Given the description of an element on the screen output the (x, y) to click on. 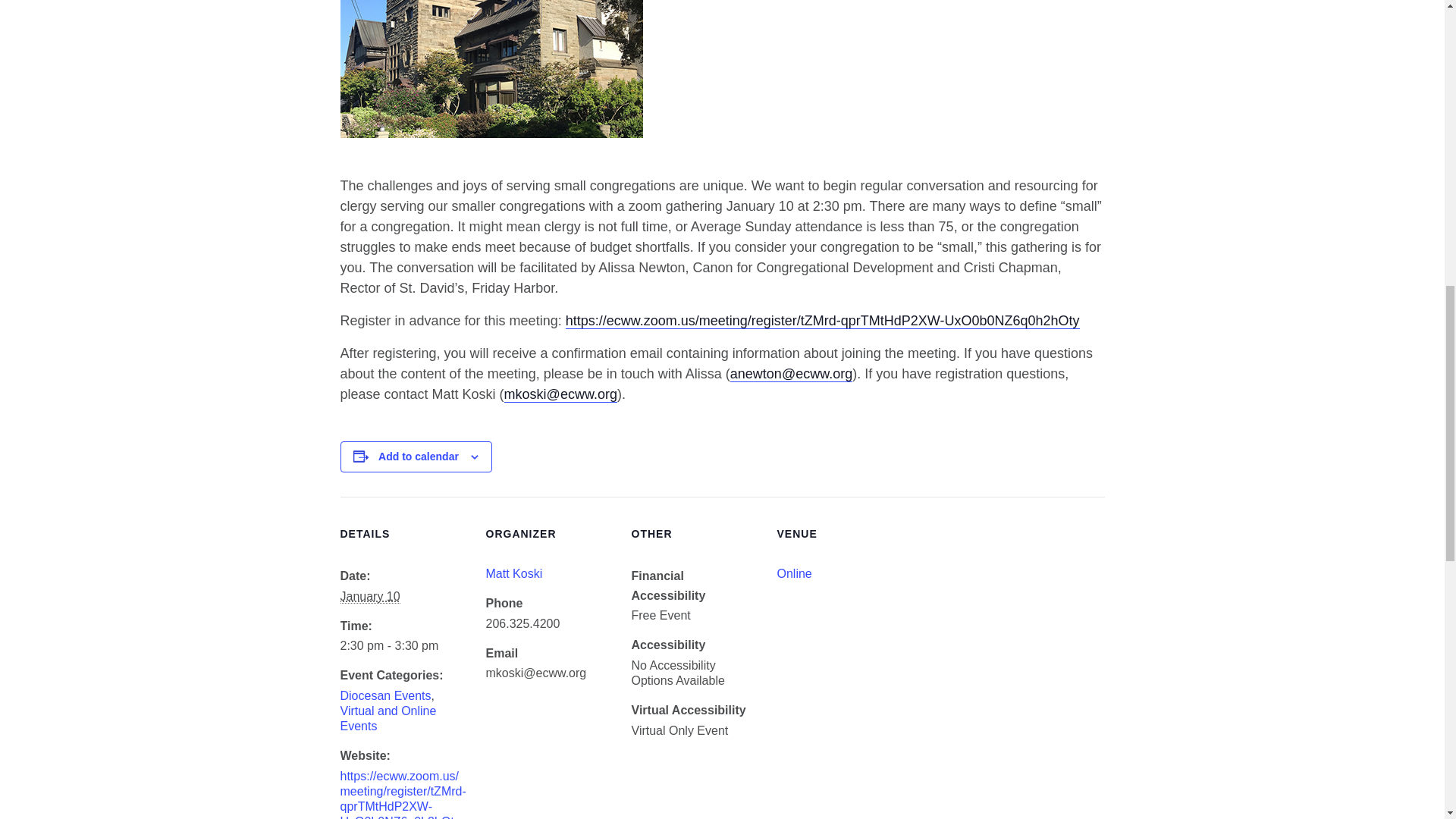
2024-01-10 (403, 645)
Matt Koski (512, 573)
2024-01-10 (368, 596)
